Given the description of an element on the screen output the (x, y) to click on. 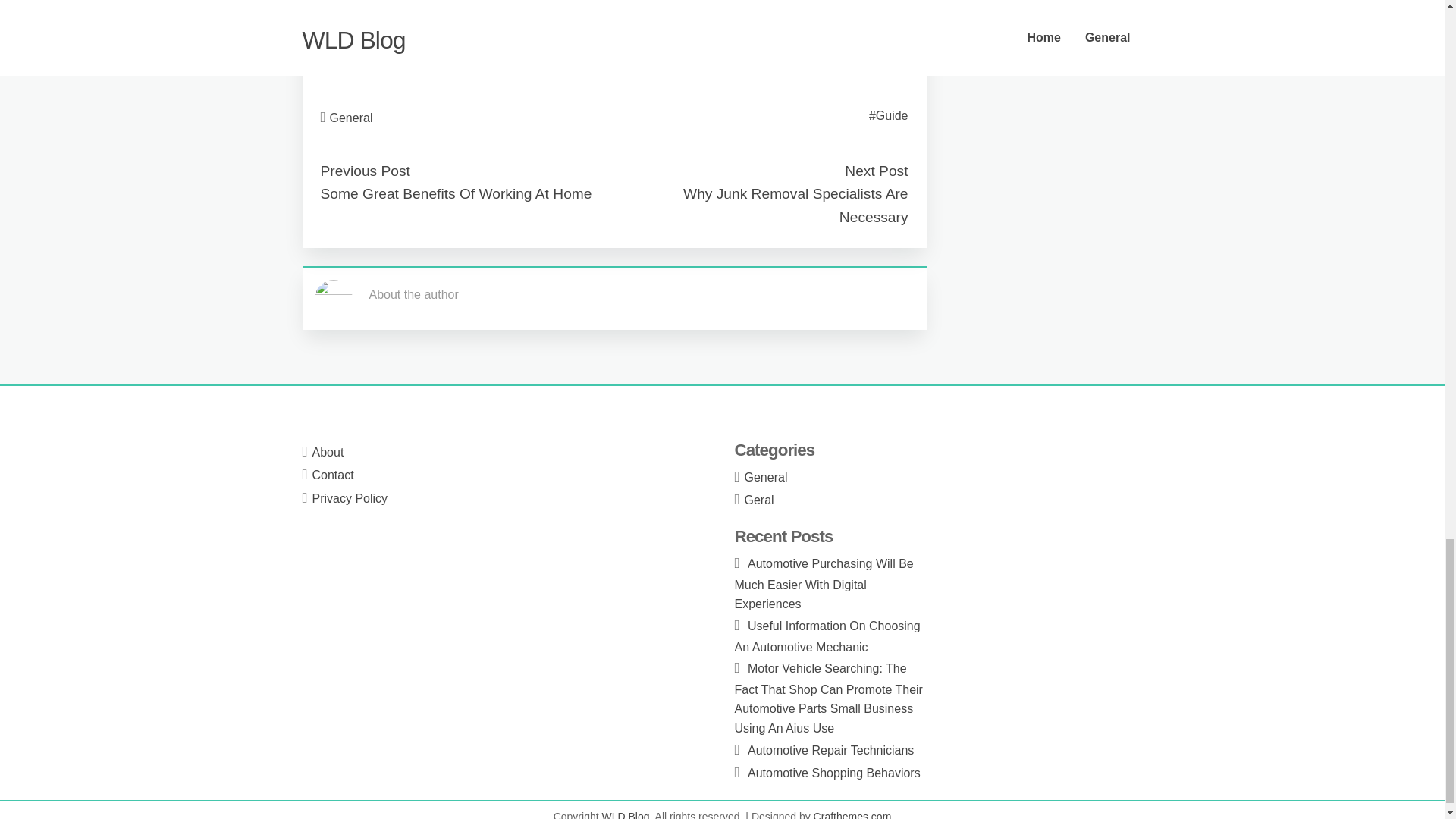
WLD Blog (625, 814)
Why Junk Removal Specialists Are Necessary (794, 205)
reference (345, 26)
Contact (333, 474)
General (351, 117)
Crafthemes.com (852, 814)
Geral (759, 499)
About (328, 451)
visit the following internet page (403, 64)
